Given the description of an element on the screen output the (x, y) to click on. 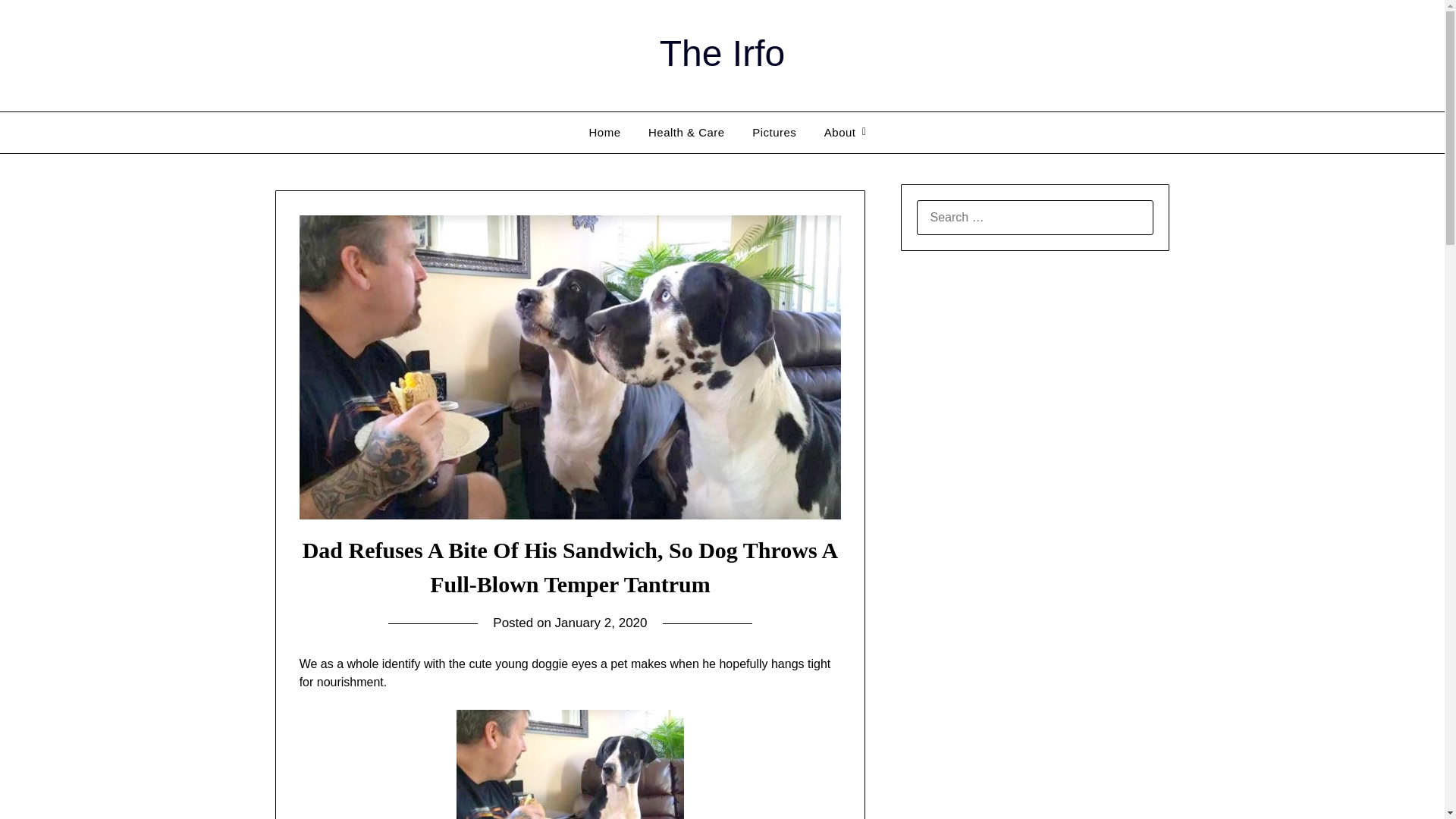
Search (38, 22)
January 2, 2020 (600, 622)
Home (603, 132)
The Irfo (721, 53)
About (839, 132)
Pictures (773, 132)
